Given the description of an element on the screen output the (x, y) to click on. 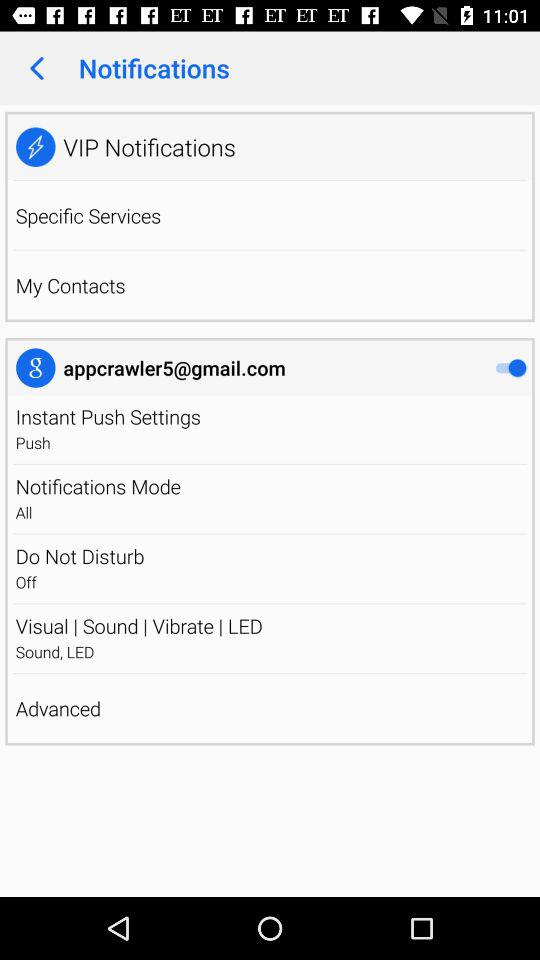
select icon above sound, led (269, 625)
